Given the description of an element on the screen output the (x, y) to click on. 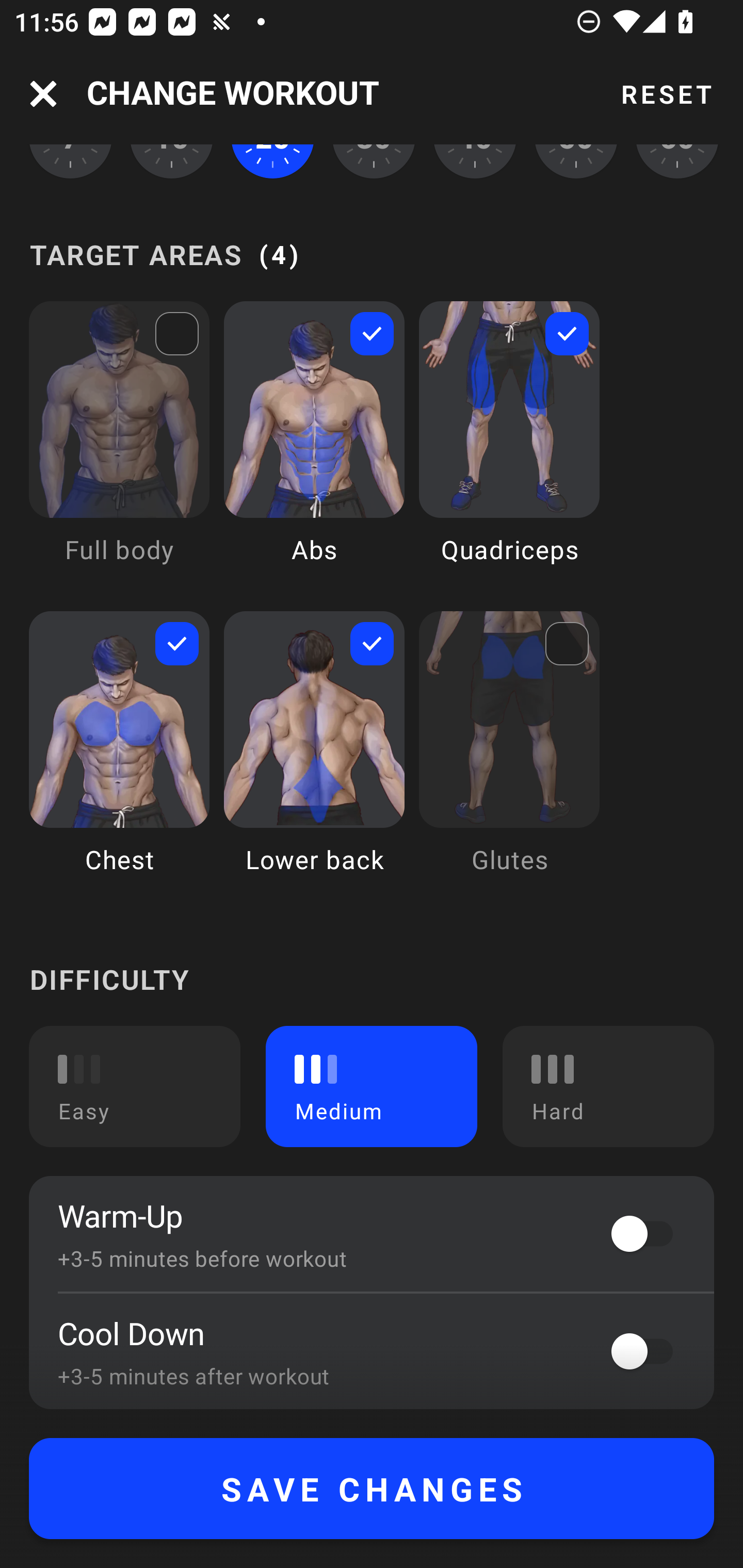
Navigation icon (43, 93)
RESET (666, 93)
Full body (118, 446)
Glutes (509, 757)
Easy (134, 1086)
Hard (608, 1086)
SAVE CHANGES (371, 1488)
